Given the description of an element on the screen output the (x, y) to click on. 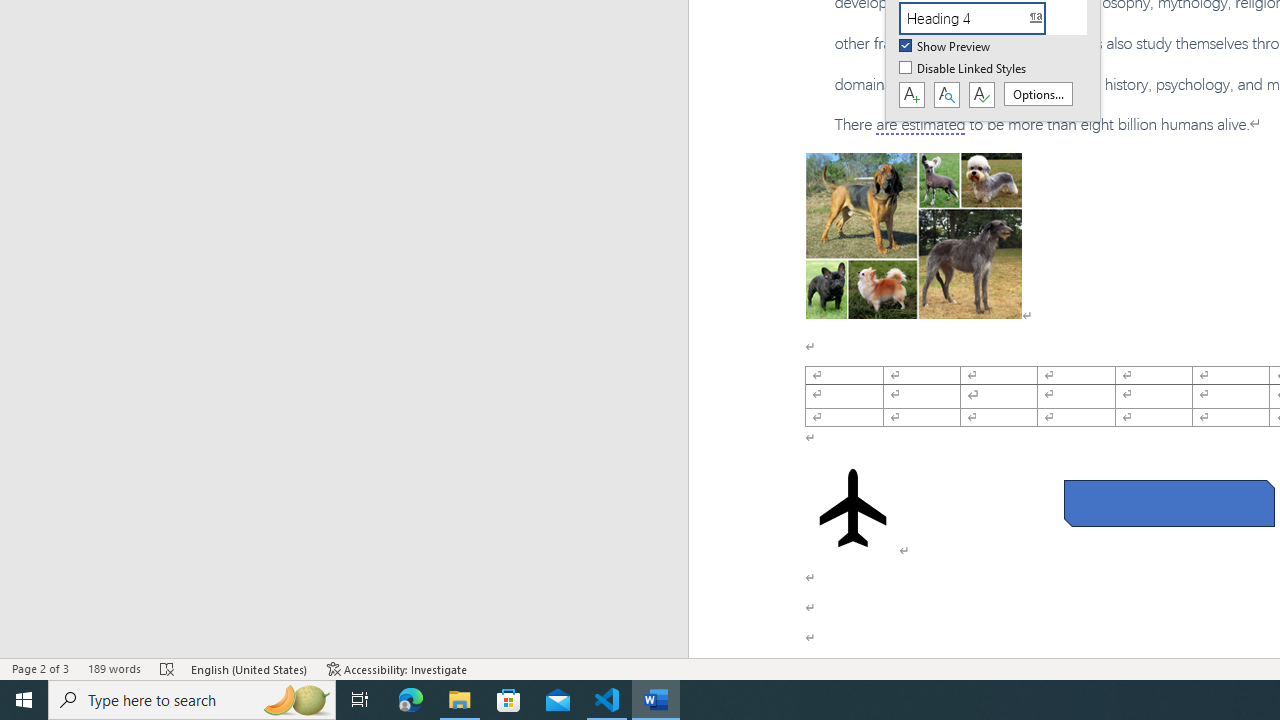
Disable Linked Styles (964, 69)
Page Number Page 2 of 3 (39, 668)
Airplane with solid fill (852, 507)
File Explorer - 1 running window (460, 699)
Word - 1 running window (656, 699)
Search highlights icon opens search home window (295, 699)
Visual Studio Code - 1 running window (607, 699)
